Given the description of an element on the screen output the (x, y) to click on. 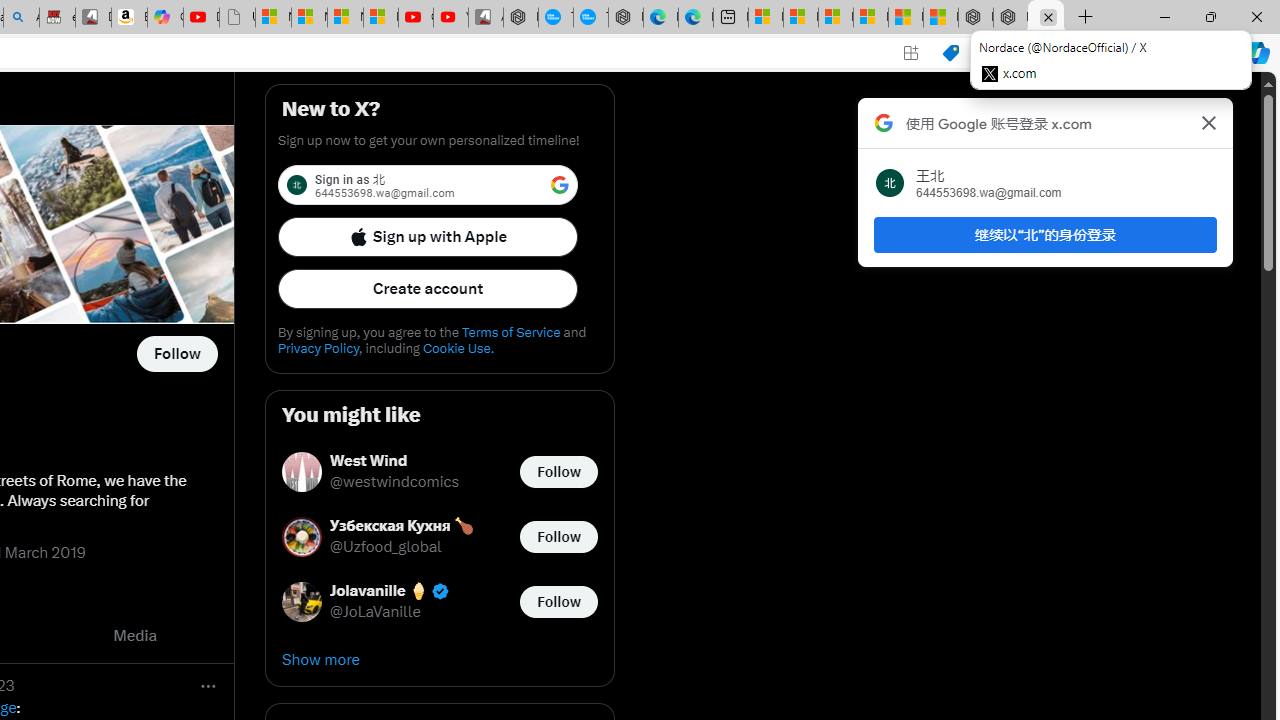
Class: LgbsSe-Bz112c (559, 184)
Nordace - My Account (520, 17)
Terms of Service (510, 331)
West Wind (394, 461)
Nordace (@NordaceOfficial) / X (1046, 17)
Follow @westwindcomics (558, 471)
West Wind @westwindcomics Follow @westwindcomics (440, 471)
@westwindcomics (394, 482)
Microsoft account | Microsoft Account Privacy Settings (800, 17)
Microsoft Start (905, 17)
